Given the description of an element on the screen output the (x, y) to click on. 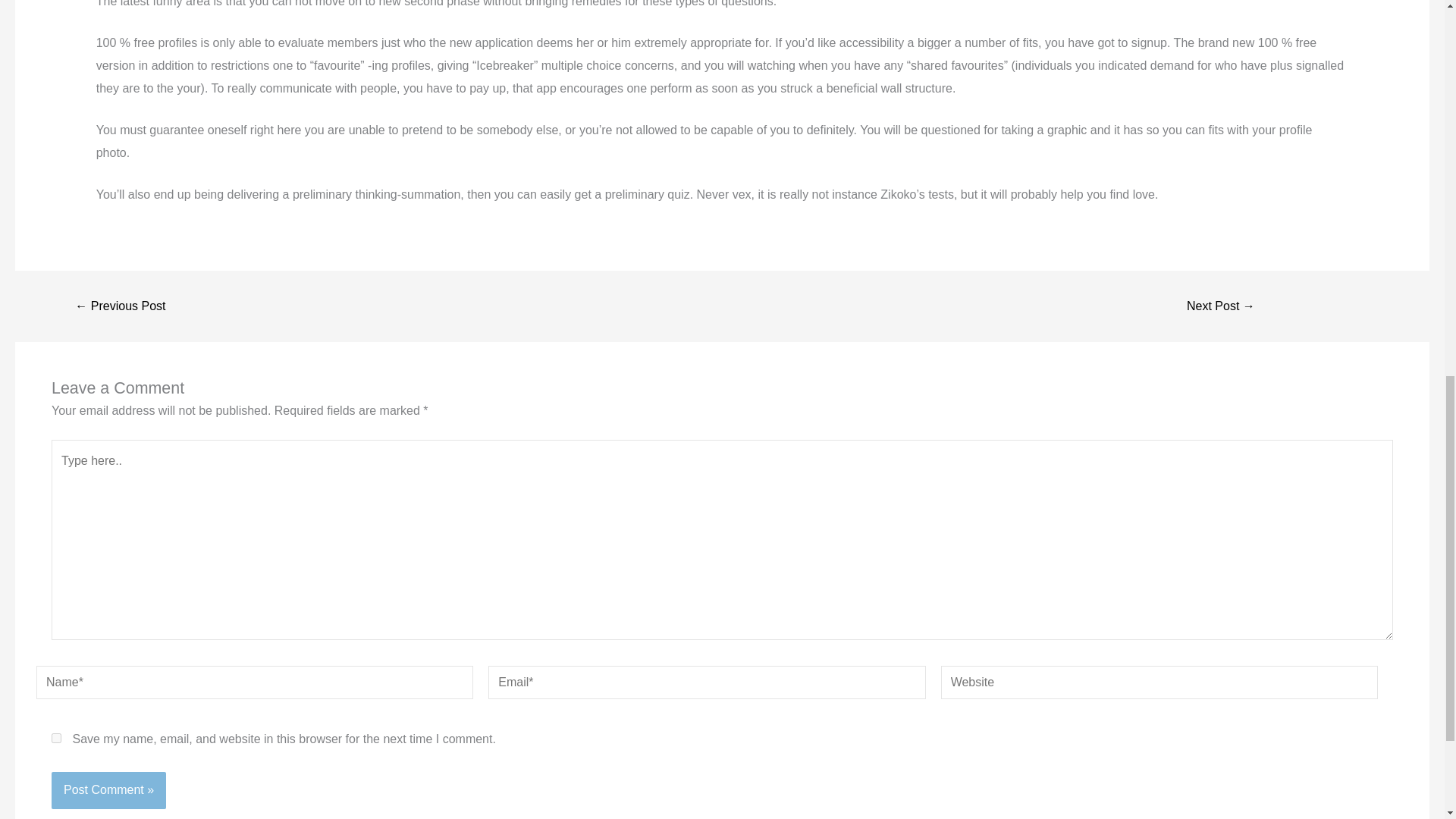
yes (55, 737)
Better Gambling enterprise Bonuses Canada 2023's Collection (119, 306)
